Given the description of an element on the screen output the (x, y) to click on. 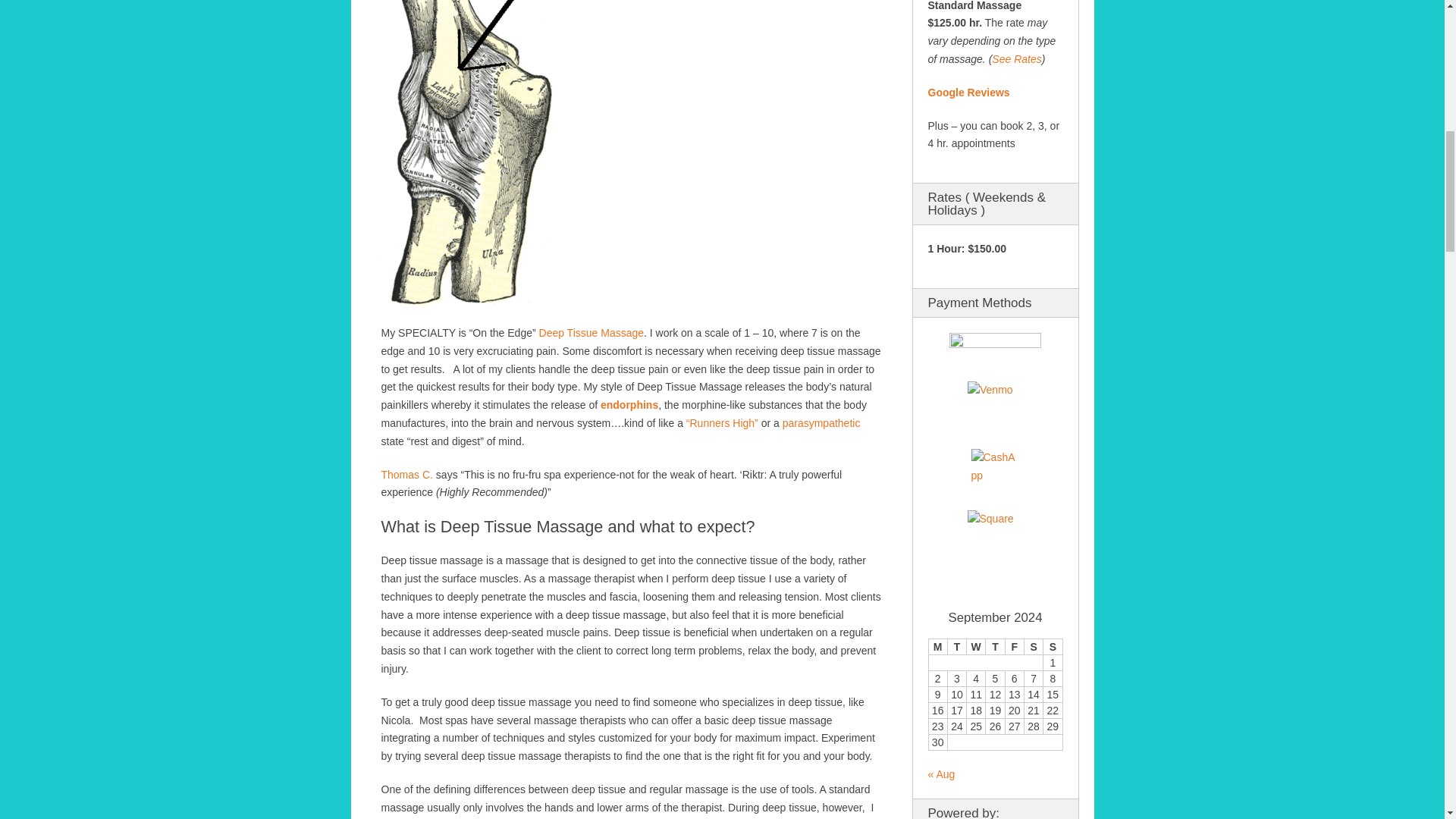
Runner's High (721, 422)
What is Deep Tissue Massage (591, 332)
endorphins (628, 404)
Thomas C. (406, 474)
Endorphins (628, 404)
parasympathetic (821, 422)
Deep Tissue Massage (591, 332)
